Given the description of an element on the screen output the (x, y) to click on. 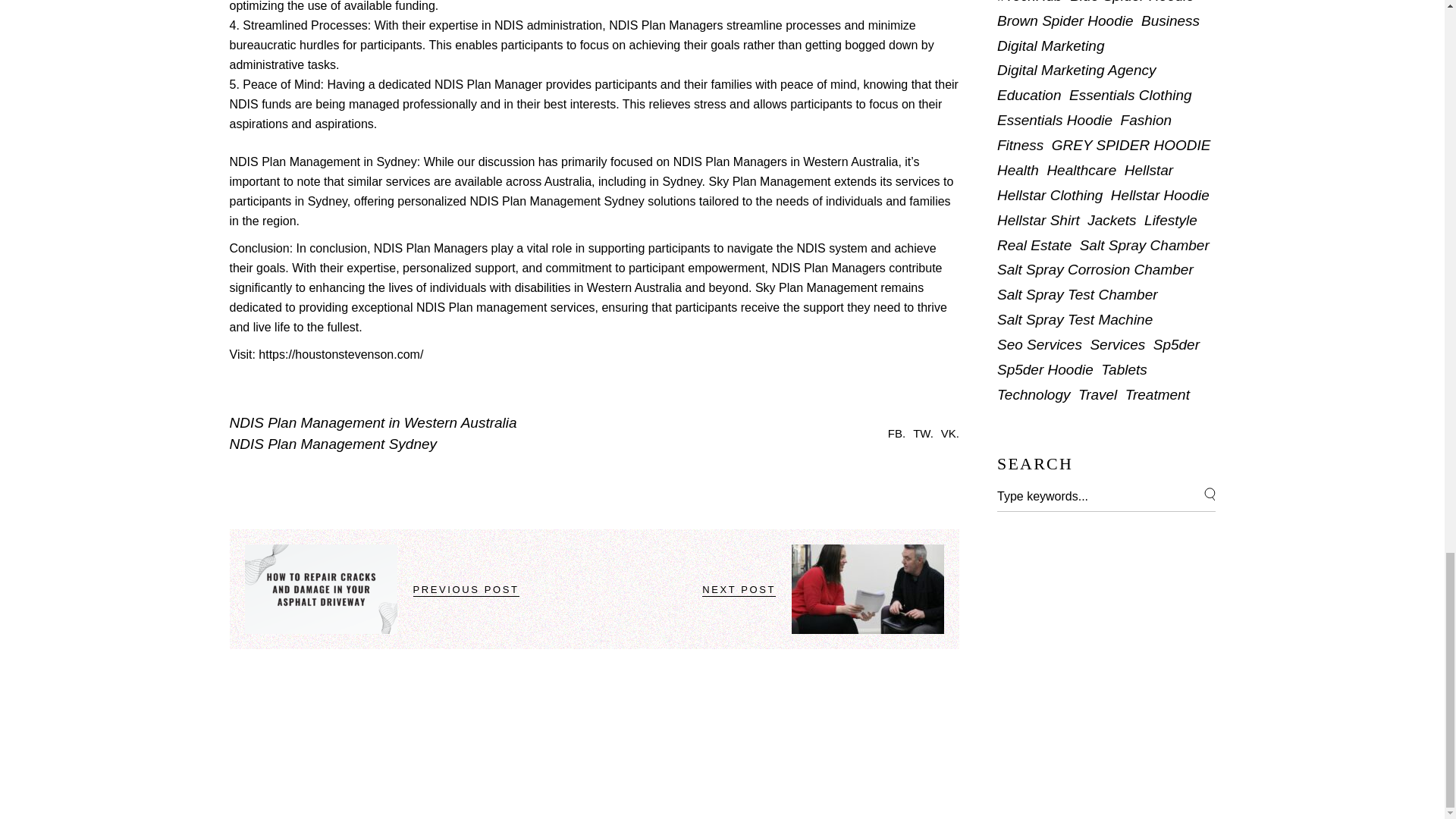
NDIS Plan Management in Western Australia (372, 423)
NDIS Plan Management Sydney (555, 201)
NDIS Plan Management Sydney (332, 444)
